Given the description of an element on the screen output the (x, y) to click on. 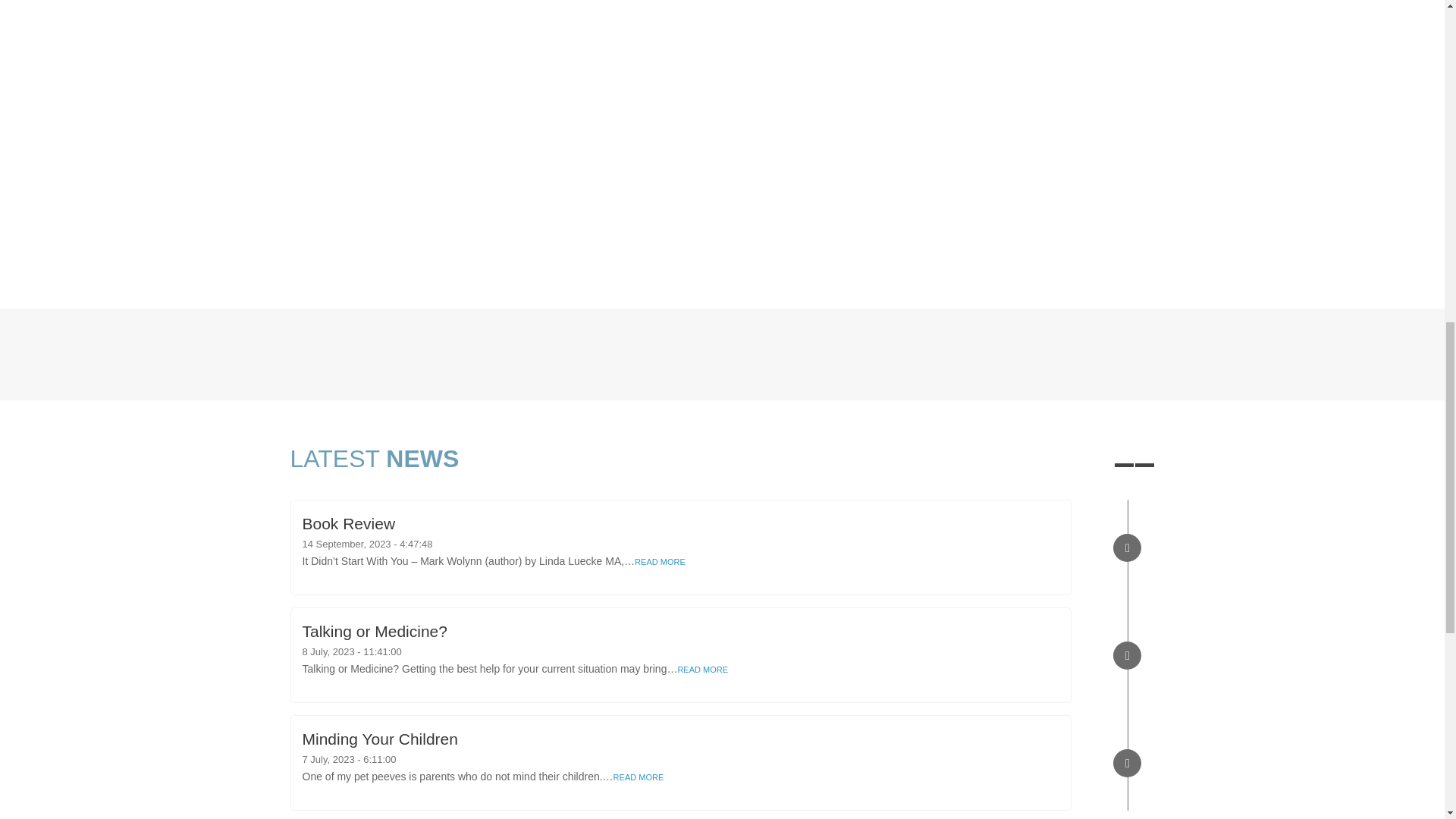
Permanent Link to Talking or Medicine? (373, 630)
READ MORE (637, 777)
Talking or Medicine? (373, 630)
Minding Your Children (379, 738)
Permanent Link to Book Review (347, 523)
READ MORE (702, 669)
READ MORE (659, 561)
Book Review (347, 523)
Permanent Link to Minding Your Children (379, 738)
